Given the description of an element on the screen output the (x, y) to click on. 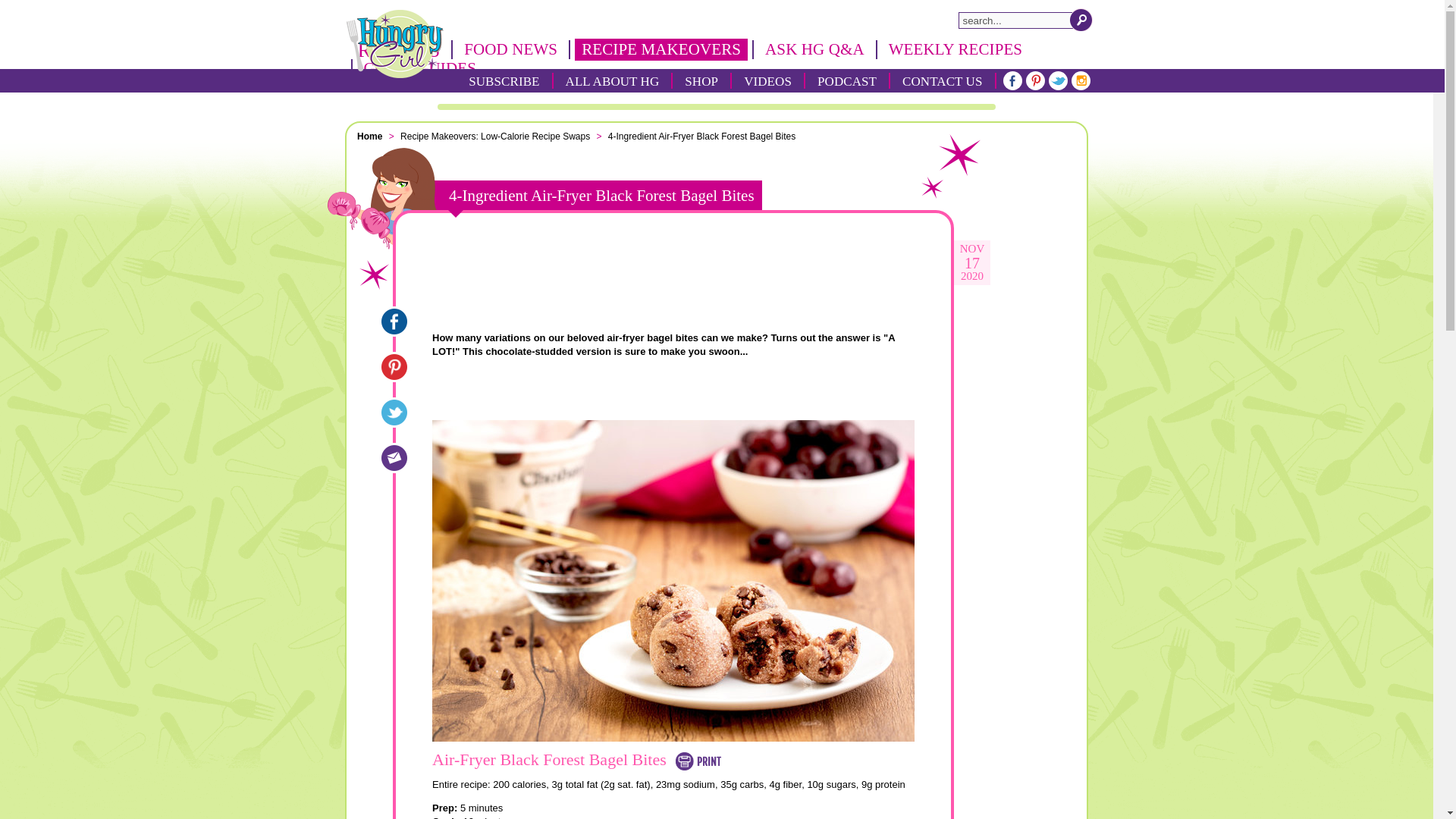
ALL ABOUT HG (612, 80)
PODCAST (847, 80)
Home (370, 136)
WEEKLY RECIPES (955, 49)
FOOD NEWS (510, 49)
Sign up for free daily emails (672, 274)
SHOP (701, 80)
VIDEOS (767, 80)
RECIPE MAKEOVERS (661, 49)
Recipe Makeovers: Low-Calorie Recipe Swaps (496, 136)
